Given the description of an element on the screen output the (x, y) to click on. 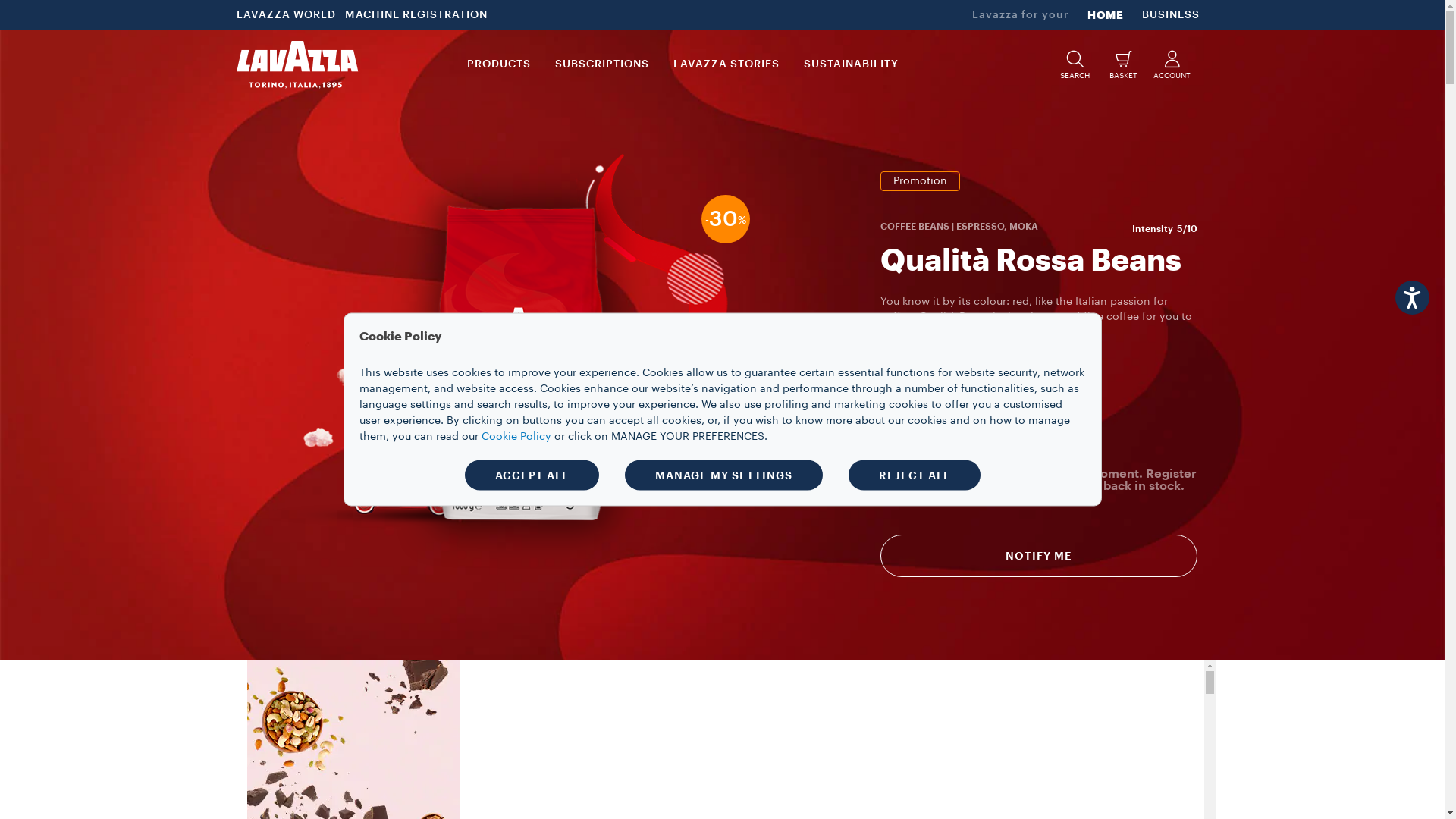
ACCEPT ALL Element type: text (531, 474)
ACCOUNT Element type: text (1172, 64)
SEARCH Element type: text (1075, 64)
REJECT ALL Element type: text (913, 474)
BASKET Element type: text (1123, 64)
HOME Element type: text (1105, 14)
MANAGE MY SETTINGS Element type: text (723, 474)
LAVAZZA WORLD Element type: text (288, 14)
SUBSCRIPTIONS Element type: text (602, 64)
MACHINE REGISTRATION Element type: text (417, 14)
LAVAZZA STORIES Element type: text (726, 64)
Cookie Policy Element type: text (515, 435)
PRODUCTS Element type: text (498, 64)
NOTIFY ME Element type: text (1038, 555)
BUSINESS Element type: text (1170, 14)
1 kg Element type: text (910, 437)
SUSTAINABILITY Element type: text (850, 64)
